Given the description of an element on the screen output the (x, y) to click on. 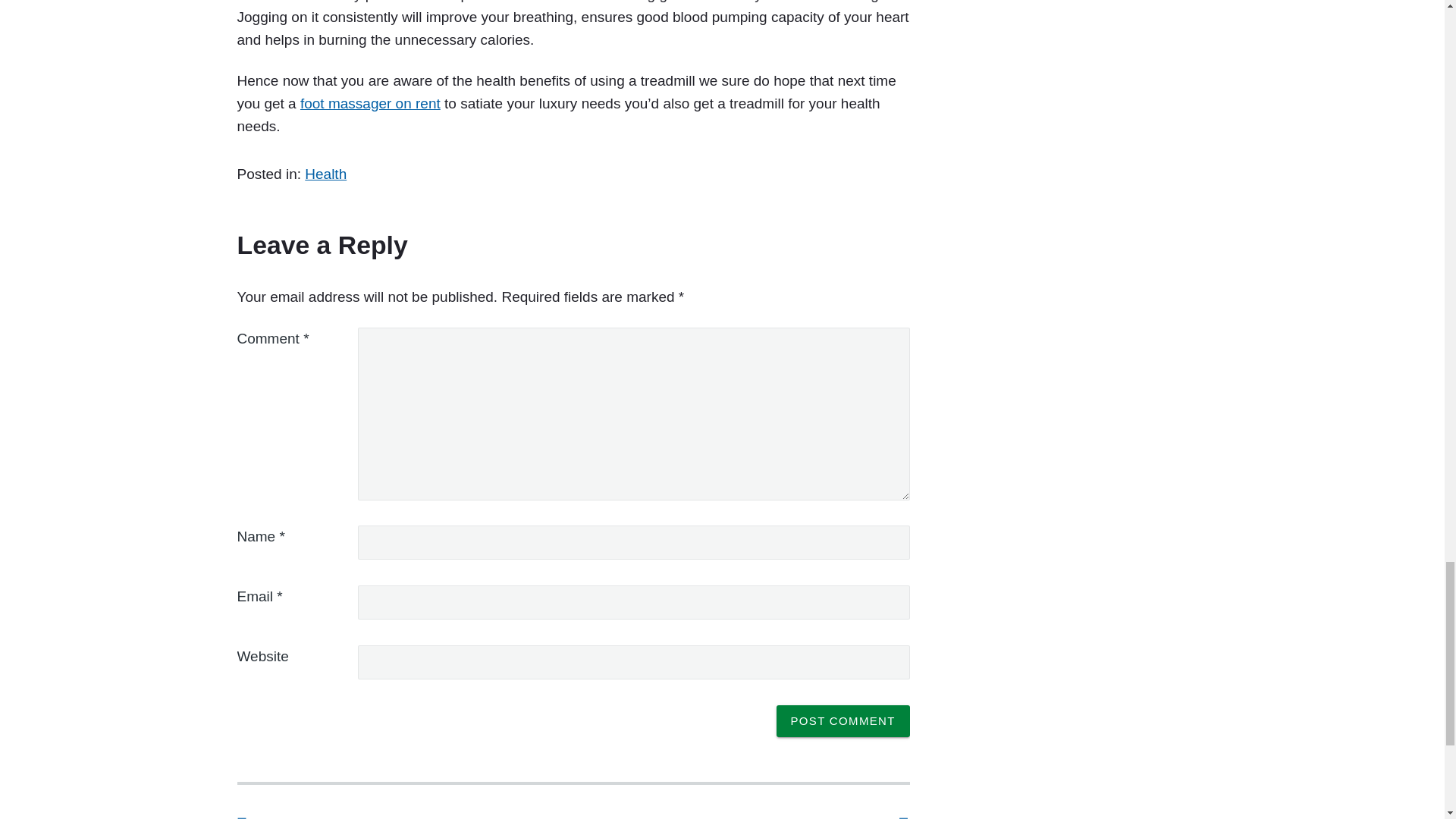
foot massager on rent (370, 103)
Health (325, 173)
Post Comment (843, 721)
Post Comment (843, 721)
